Given the description of an element on the screen output the (x, y) to click on. 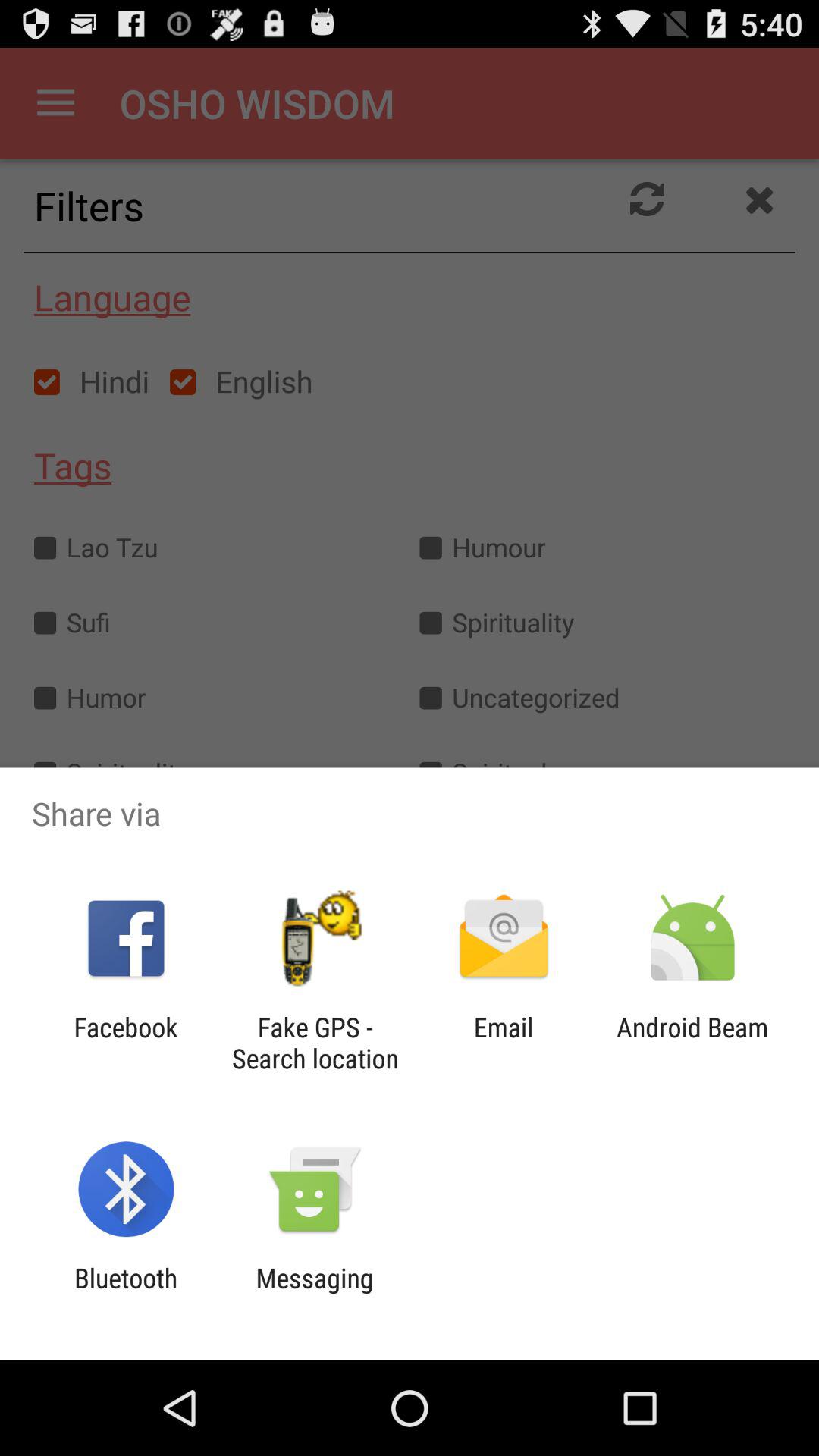
launch app to the left of the fake gps search item (125, 1042)
